Given the description of an element on the screen output the (x, y) to click on. 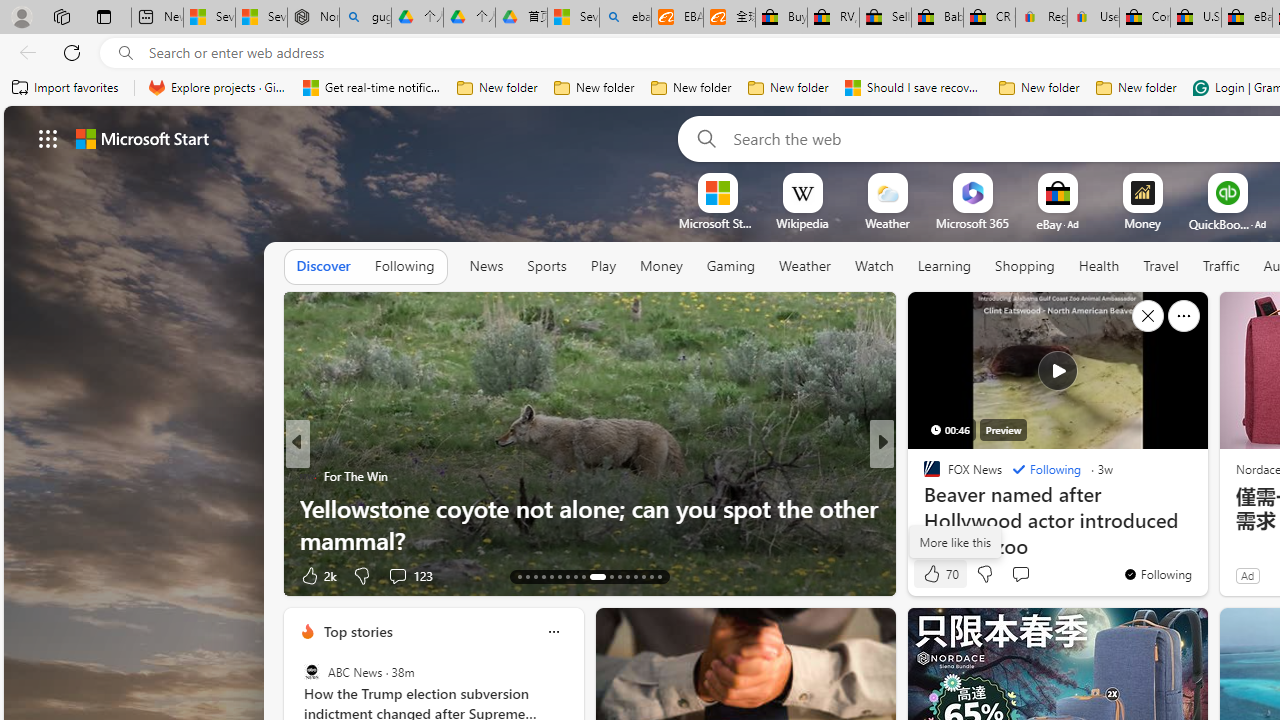
SheBudgets (923, 507)
Class: icon-img (553, 632)
Health (1098, 267)
ABC News (311, 672)
AutomationID: tab-21 (582, 576)
Men's Health (923, 475)
29 Like (934, 574)
